Given the description of an element on the screen output the (x, y) to click on. 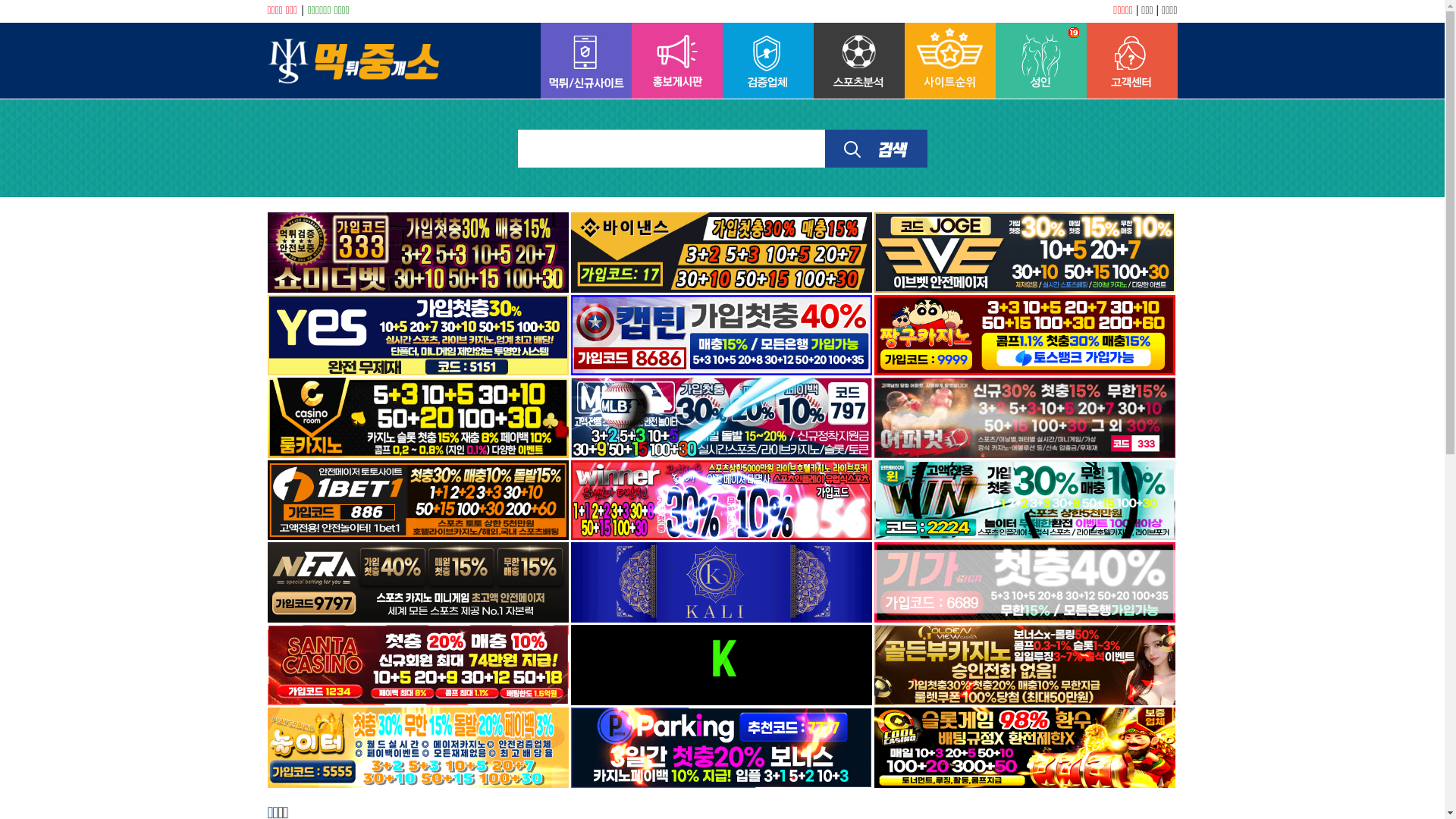
| Element type: text (302, 9)
